Given the description of an element on the screen output the (x, y) to click on. 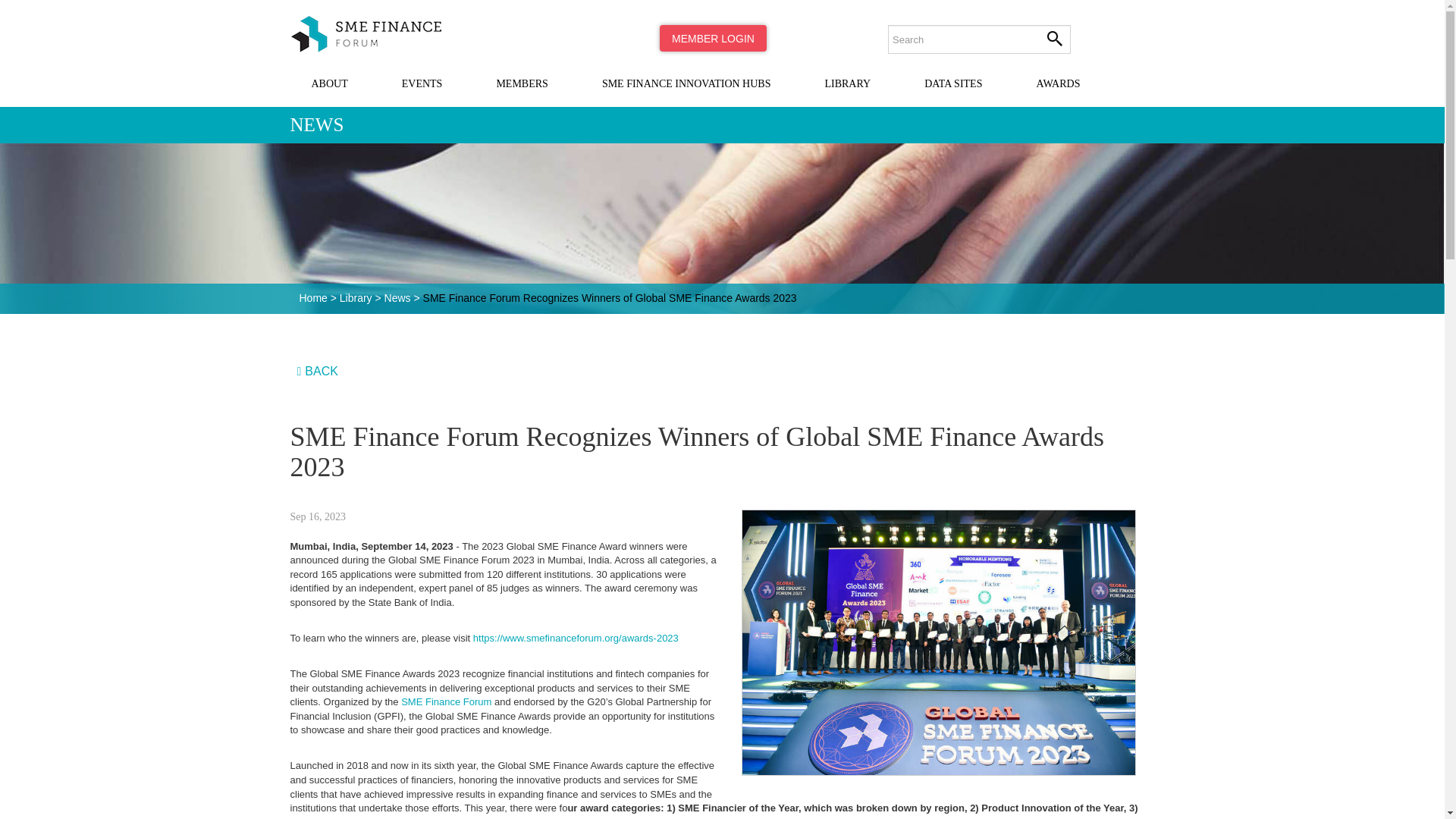
SME FINANCE INNOVATION HUBS (686, 86)
EVENTS (422, 86)
LIBRARY (847, 86)
MEMBERS (521, 86)
Home (370, 32)
ABOUT (328, 86)
MEMBER LOGIN (713, 38)
